Given the description of an element on the screen output the (x, y) to click on. 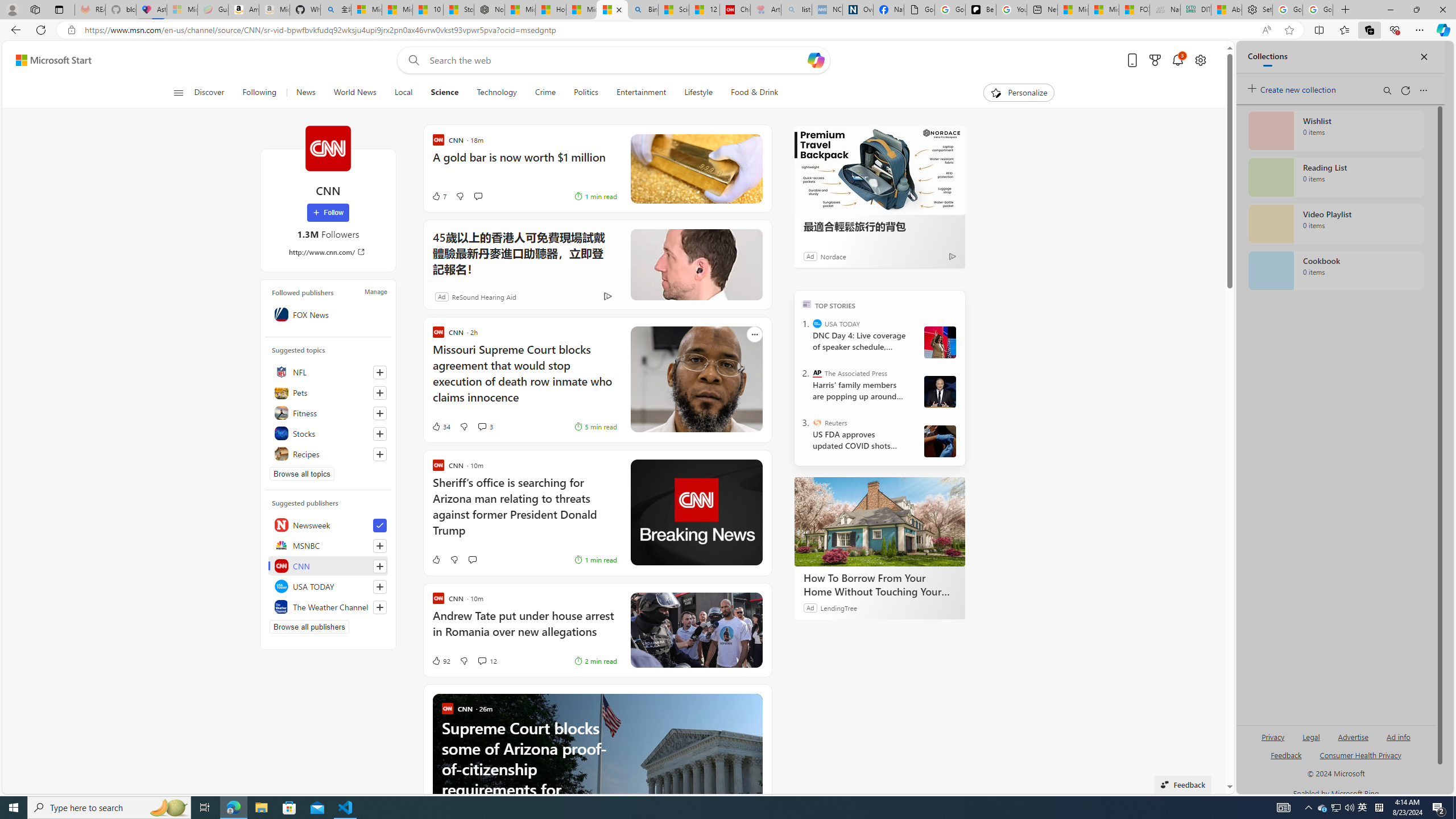
Bing (642, 9)
NFL (327, 371)
Class: button-glyph (178, 92)
AutomationID: sb_feedback (1286, 754)
